Given the description of an element on the screen output the (x, y) to click on. 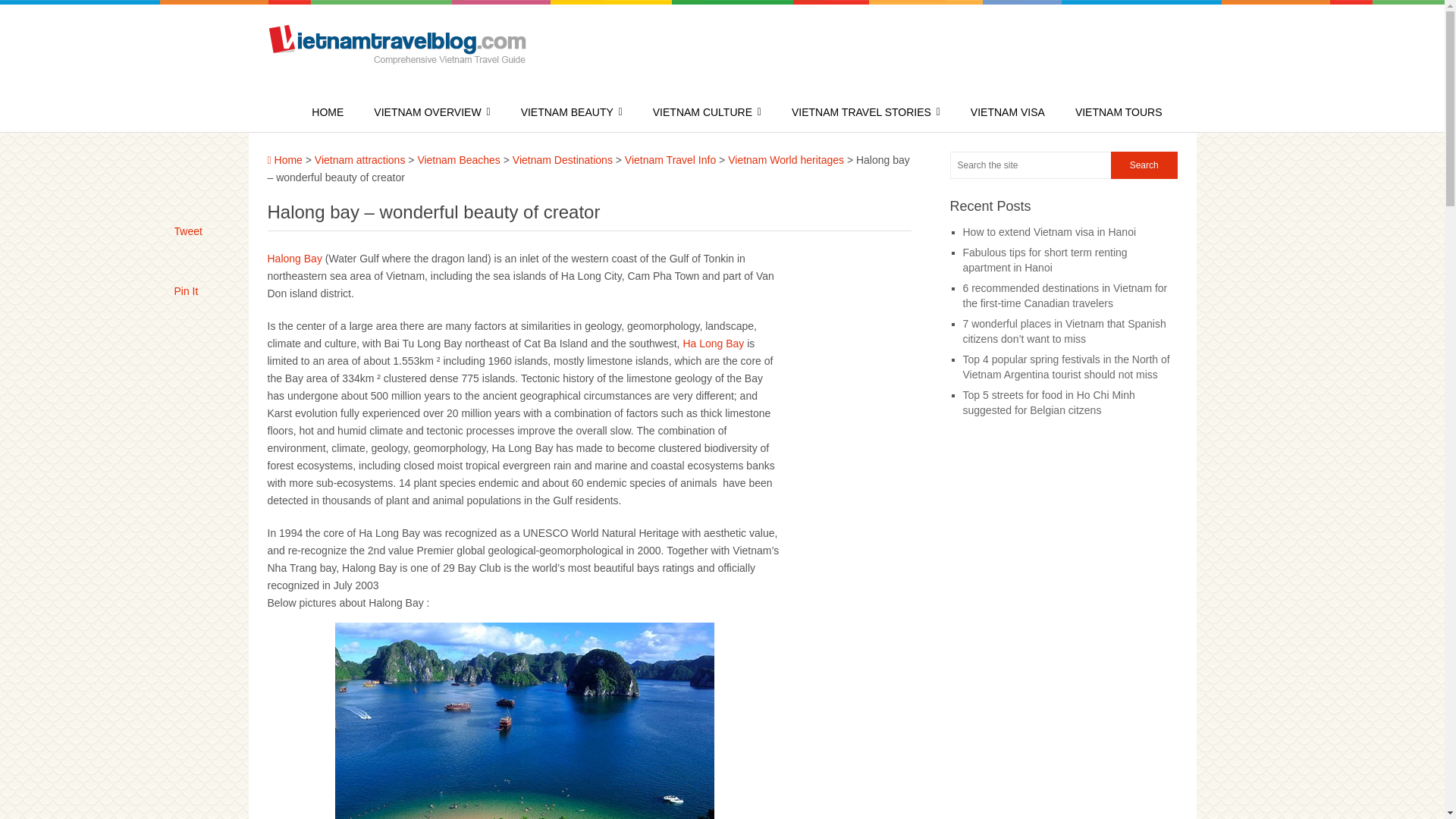
Vietnam Beaches (457, 159)
VIETNAM VISA (1008, 112)
Vietnam Destinations (562, 159)
Tweet (188, 231)
Vietnam attractions (360, 159)
Vietnam Travel Info (670, 159)
Halong Bay (293, 258)
VIETNAM TRAVEL STORIES (866, 112)
VIETNAM OVERVIEW (431, 112)
Vietnam World heritages (786, 159)
 Home (283, 159)
VIETNAM BEAUTY (572, 112)
VIETNAM TOURS (1118, 112)
Ha Long accommodation (293, 258)
VIETNAM CULTURE (706, 112)
